Given the description of an element on the screen output the (x, y) to click on. 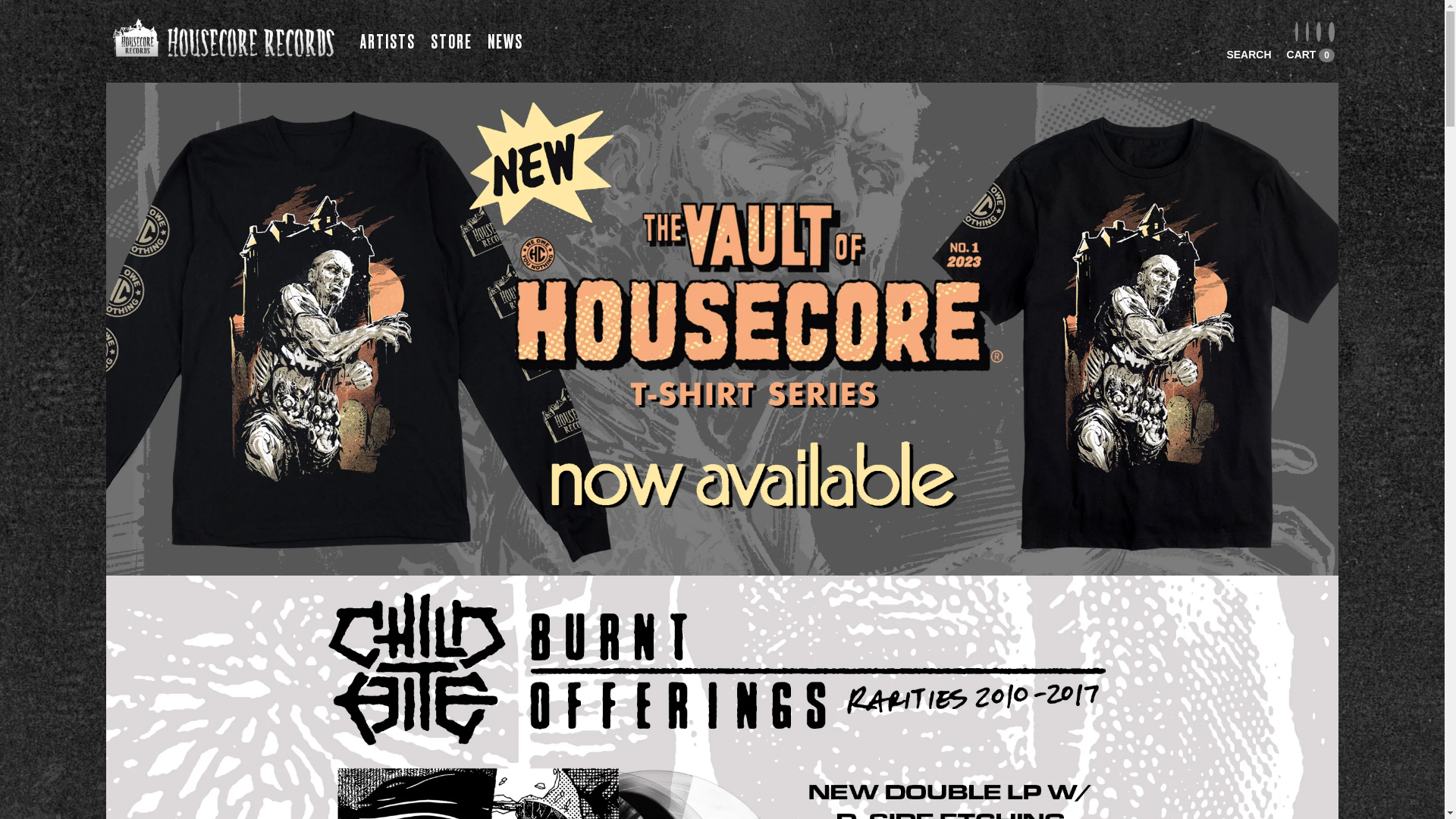
instagram Element type: hover (1306, 31)
youtube Element type: hover (1331, 31)
twitter Element type: hover (1318, 31)
STORE Element type: text (451, 42)
NEWS Element type: text (505, 42)
ARTISTS Element type: text (387, 42)
SEARCH Element type: text (1248, 54)
CART 0 Element type: text (1310, 54)
facebook Element type: hover (1296, 31)
